Given the description of an element on the screen output the (x, y) to click on. 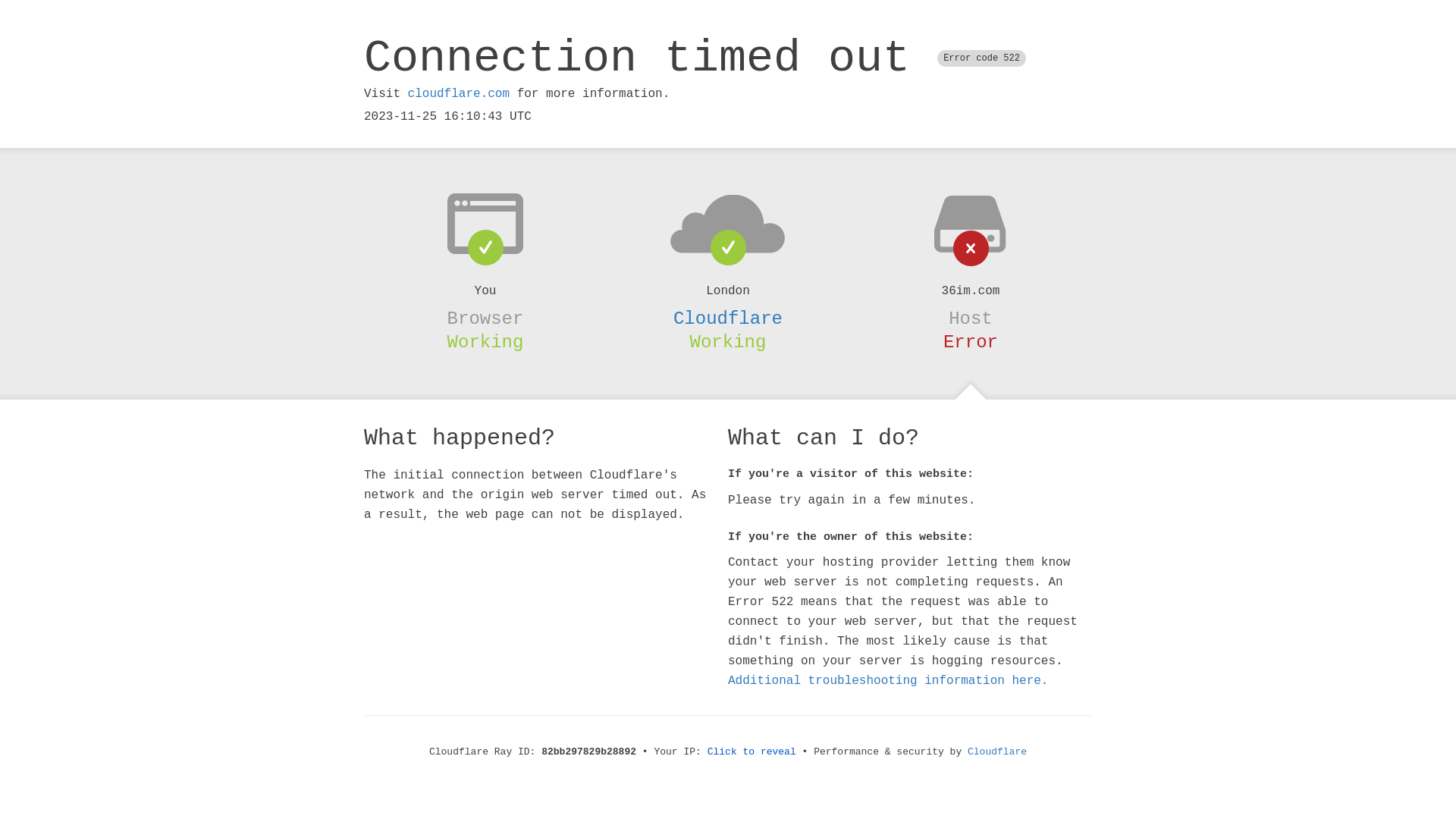
Cloudflare Element type: text (727, 318)
Click to reveal Element type: text (751, 751)
cloudflare.com Element type: text (458, 93)
Cloudflare Element type: text (996, 751)
Additional troubleshooting information here. Element type: text (888, 680)
